Given the description of an element on the screen output the (x, y) to click on. 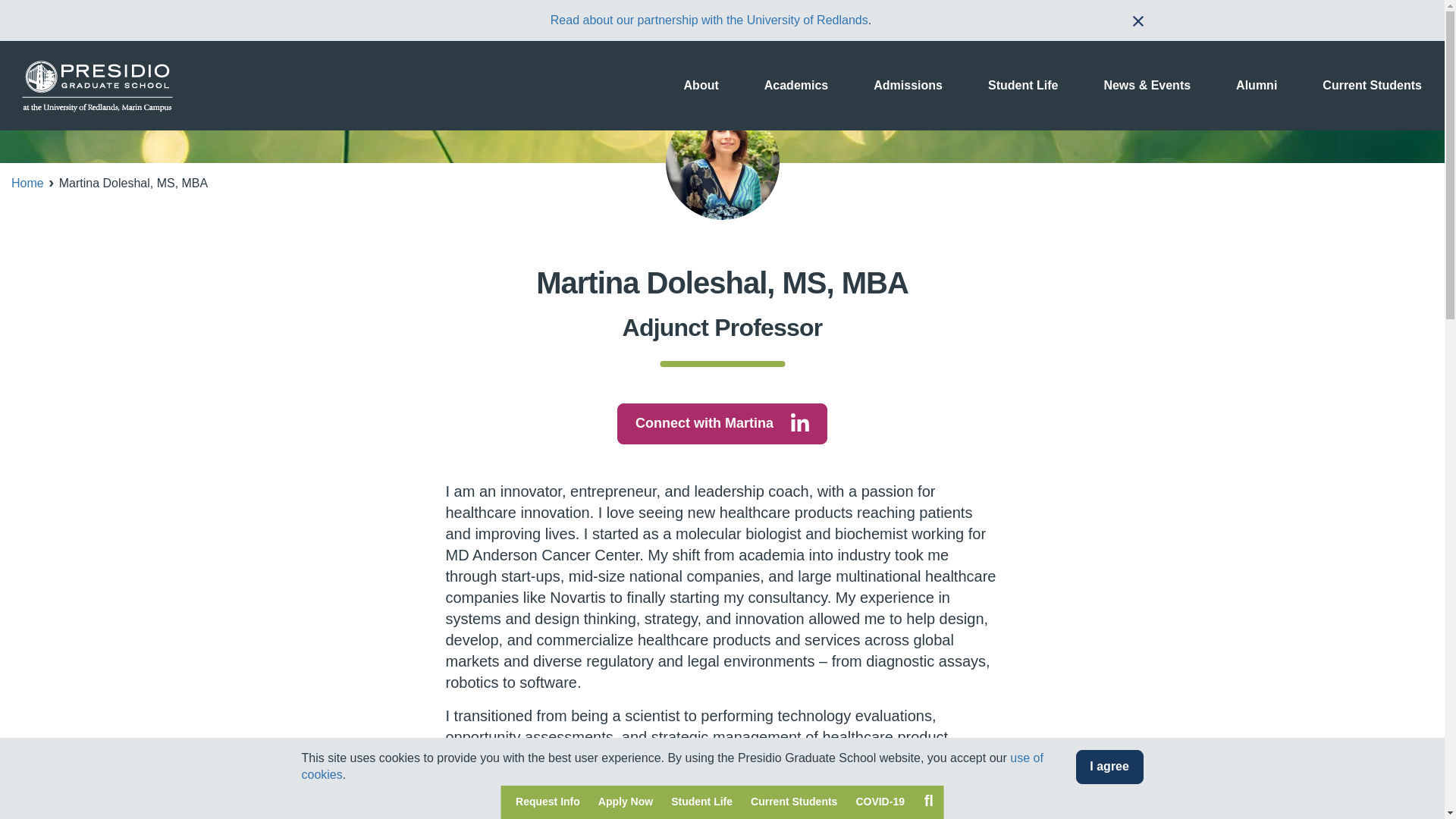
Presidio Graduate School (97, 85)
Current Students (793, 802)
Search (928, 800)
Apply Now (625, 802)
COVID-19 (879, 802)
Request Info (547, 802)
Student Life (701, 802)
